Given the description of an element on the screen output the (x, y) to click on. 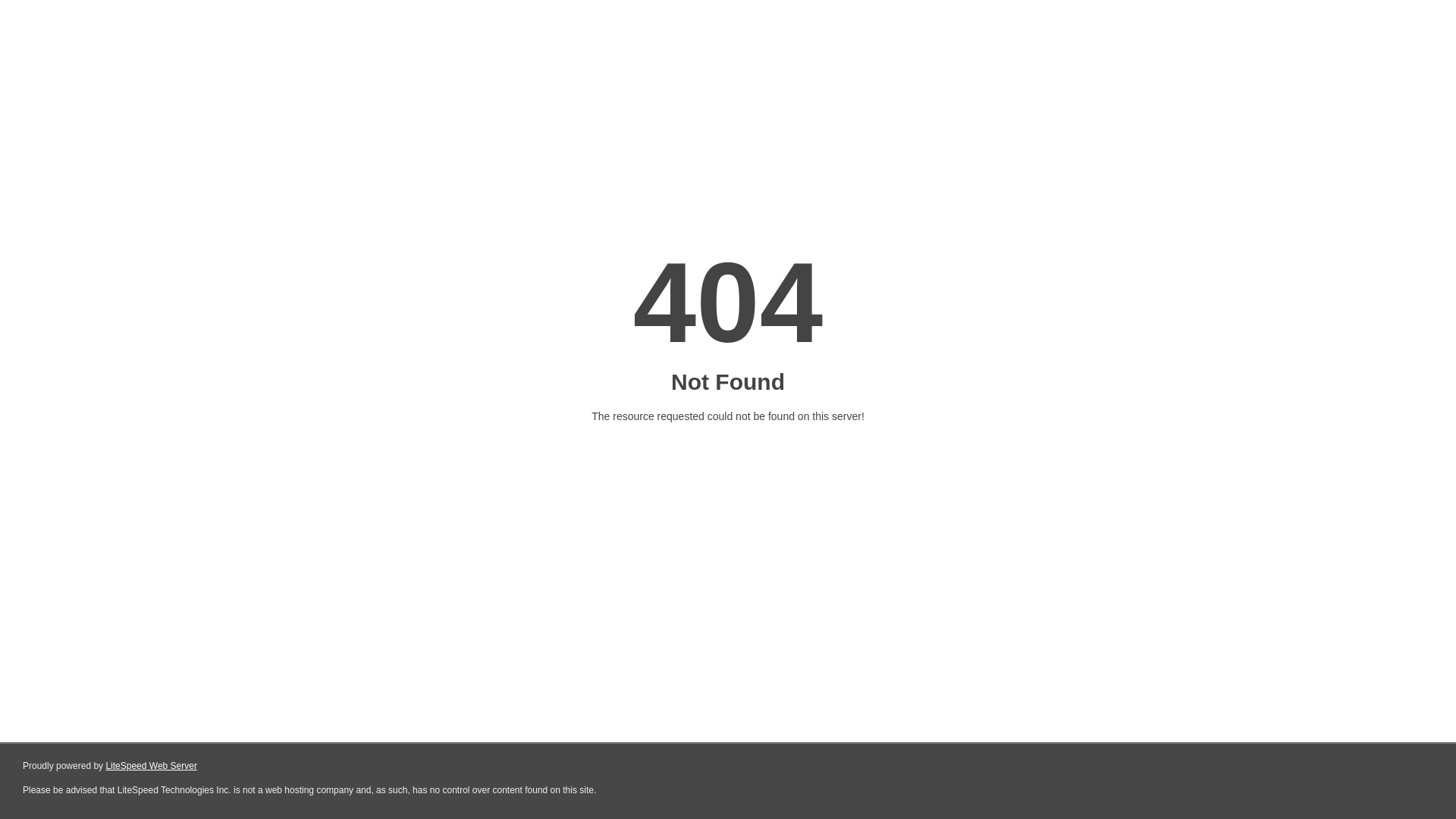
LiteSpeed Web Server Element type: text (151, 765)
